Given the description of an element on the screen output the (x, y) to click on. 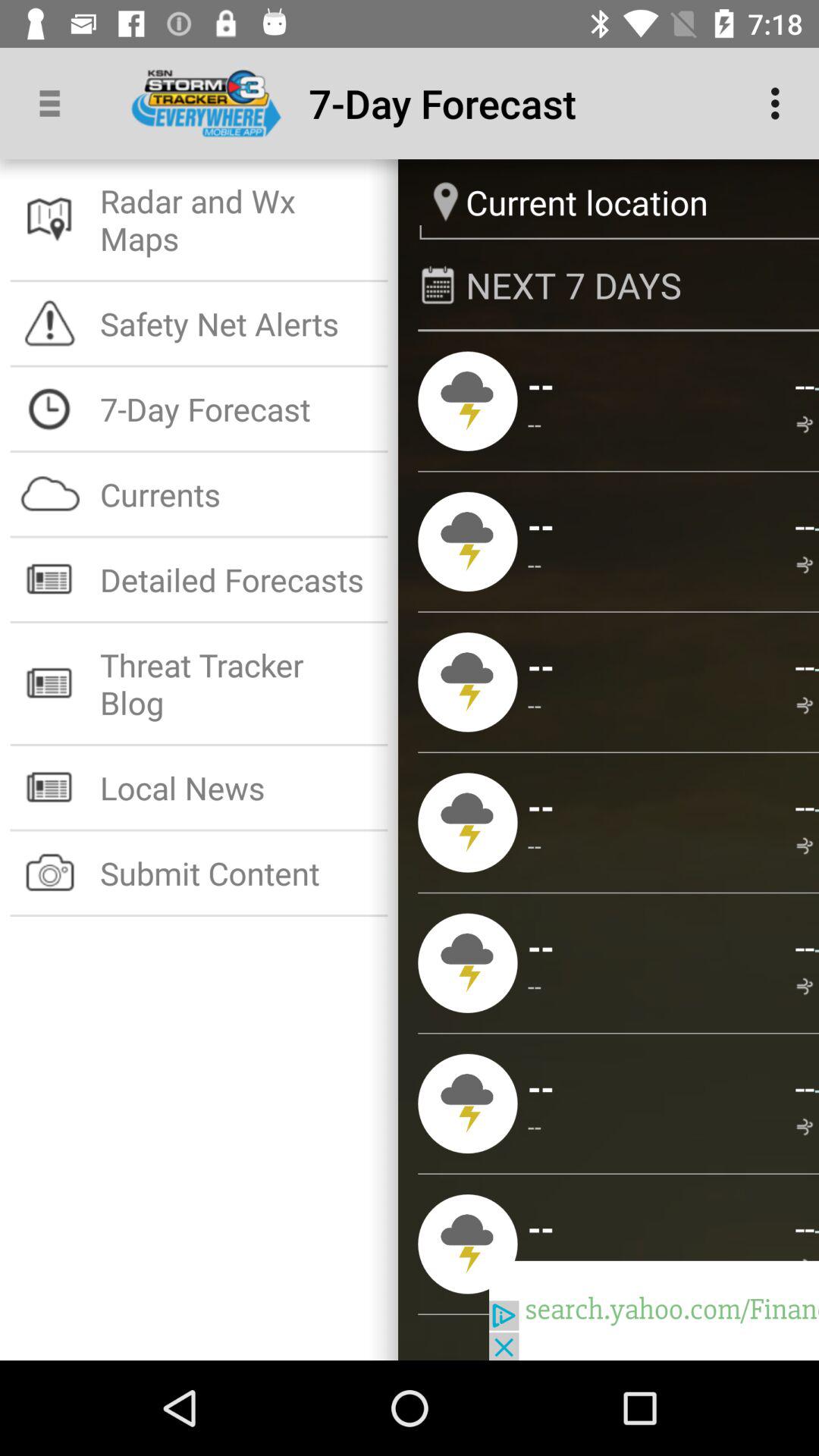
choose the item above the -- icon (540, 1087)
